Given the description of an element on the screen output the (x, y) to click on. 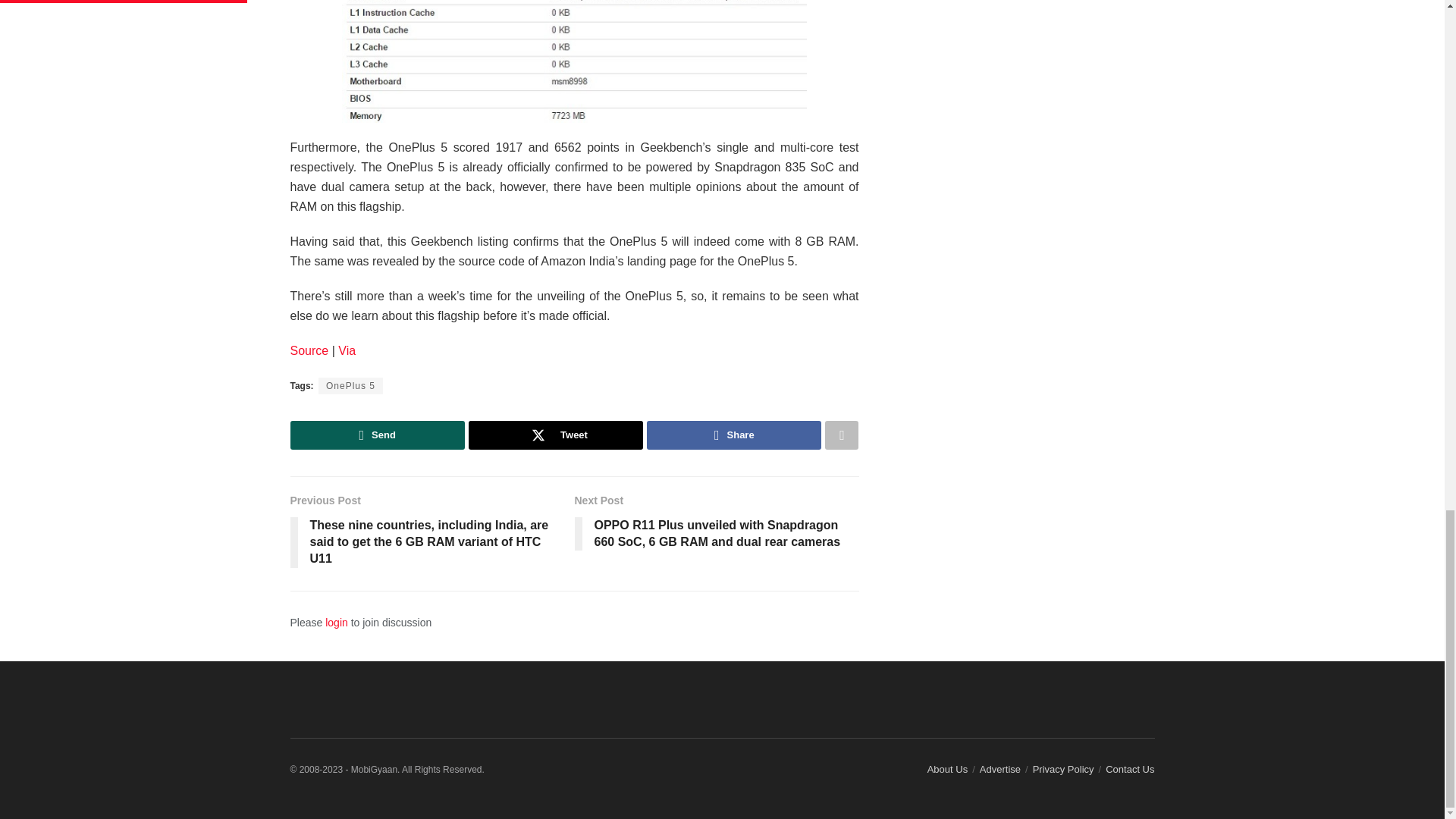
OnePlus 5 (350, 385)
Send (376, 434)
Via (346, 350)
Source (309, 350)
